Given the description of an element on the screen output the (x, y) to click on. 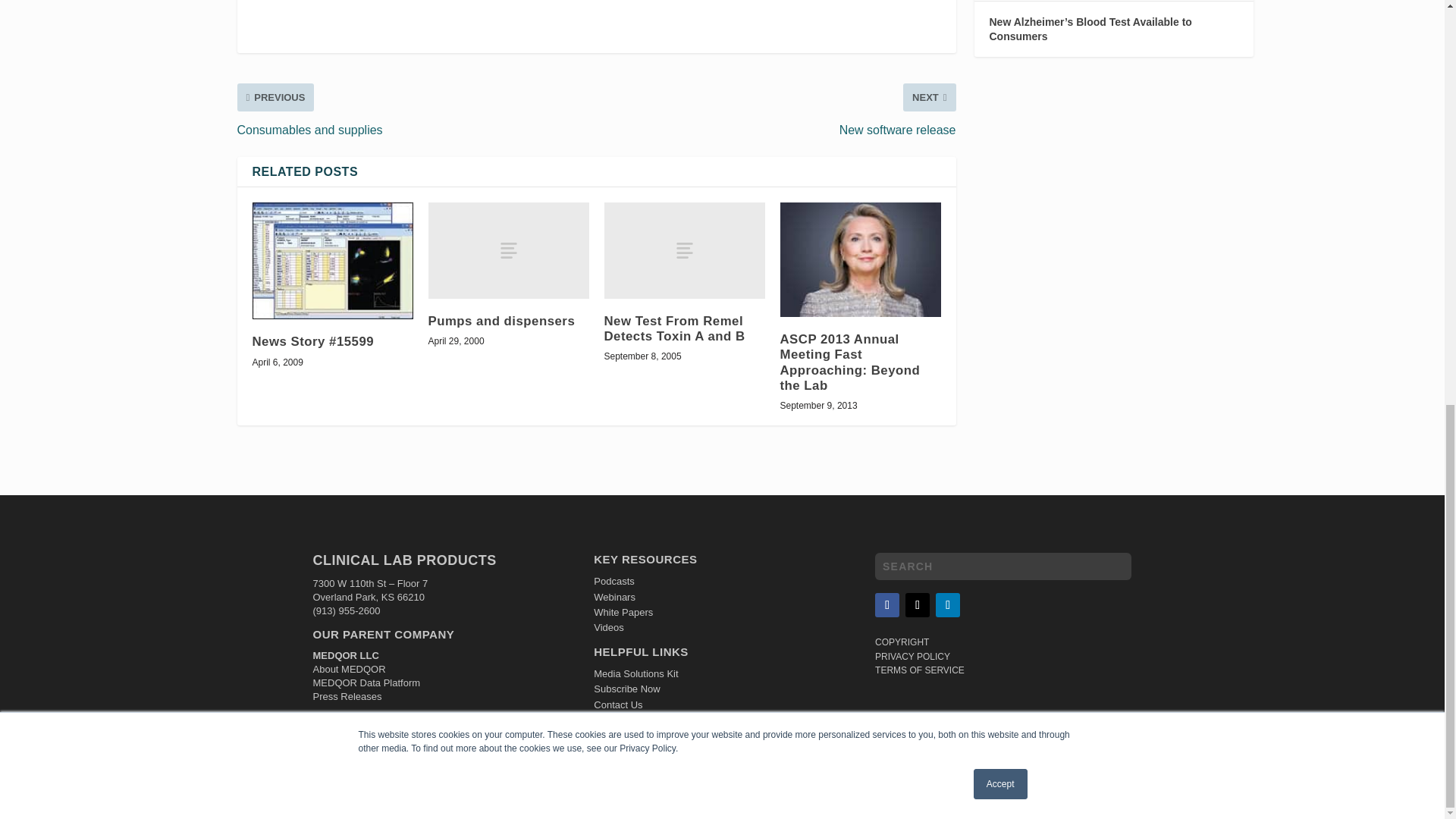
3rd party ad content (596, 18)
